Given the description of an element on the screen output the (x, y) to click on. 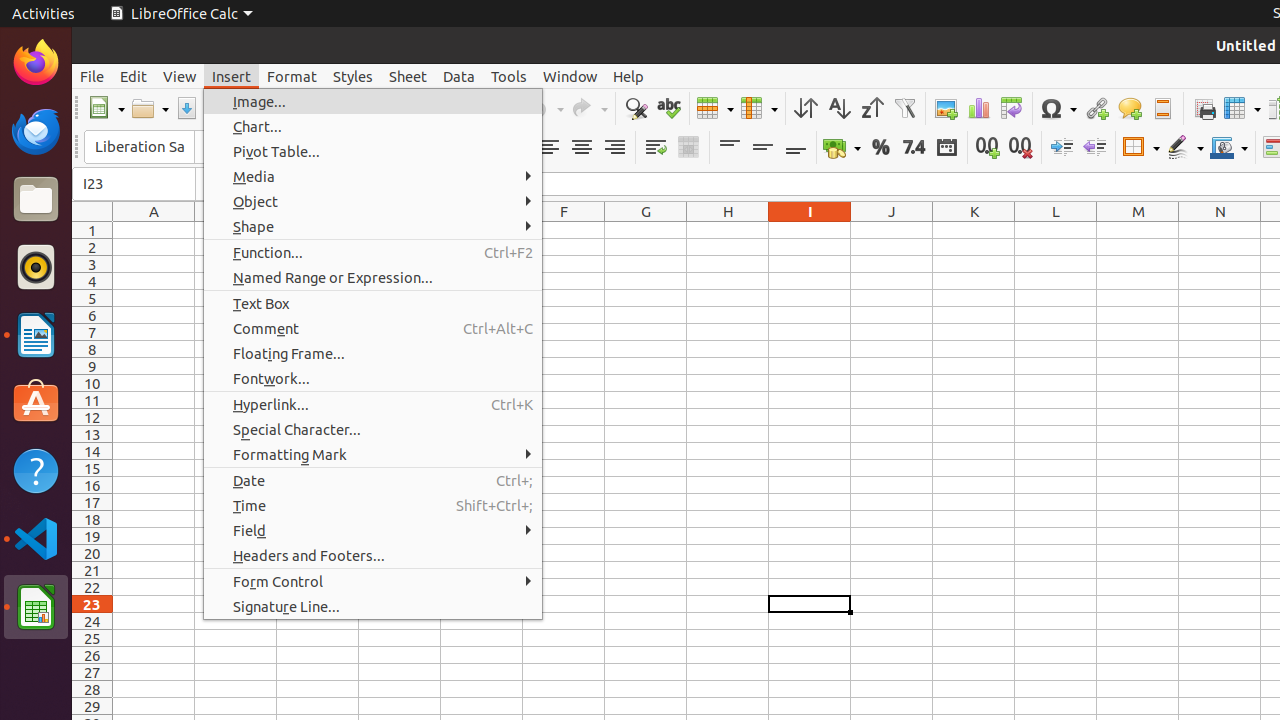
L1 Element type: table-cell (1056, 230)
Name Box Element type: text (133, 184)
Sort Element type: push-button (805, 108)
Align Top Element type: push-button (729, 147)
Find & Replace Element type: toggle-button (635, 108)
